Given the description of an element on the screen output the (x, y) to click on. 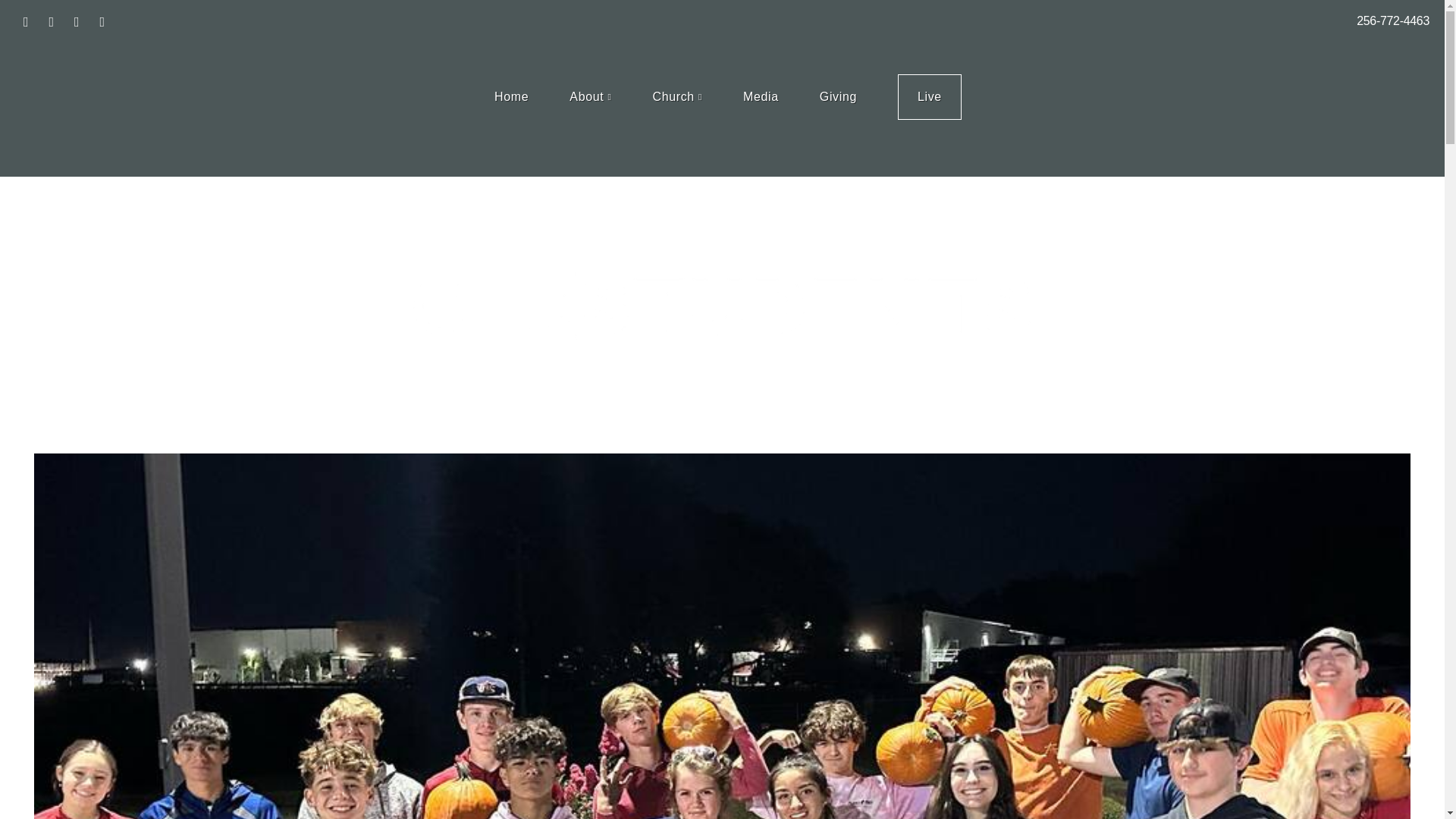
About  (590, 96)
Live (929, 96)
Giving (838, 96)
Media (760, 96)
Church  (676, 96)
Home (511, 96)
